Given the description of an element on the screen output the (x, y) to click on. 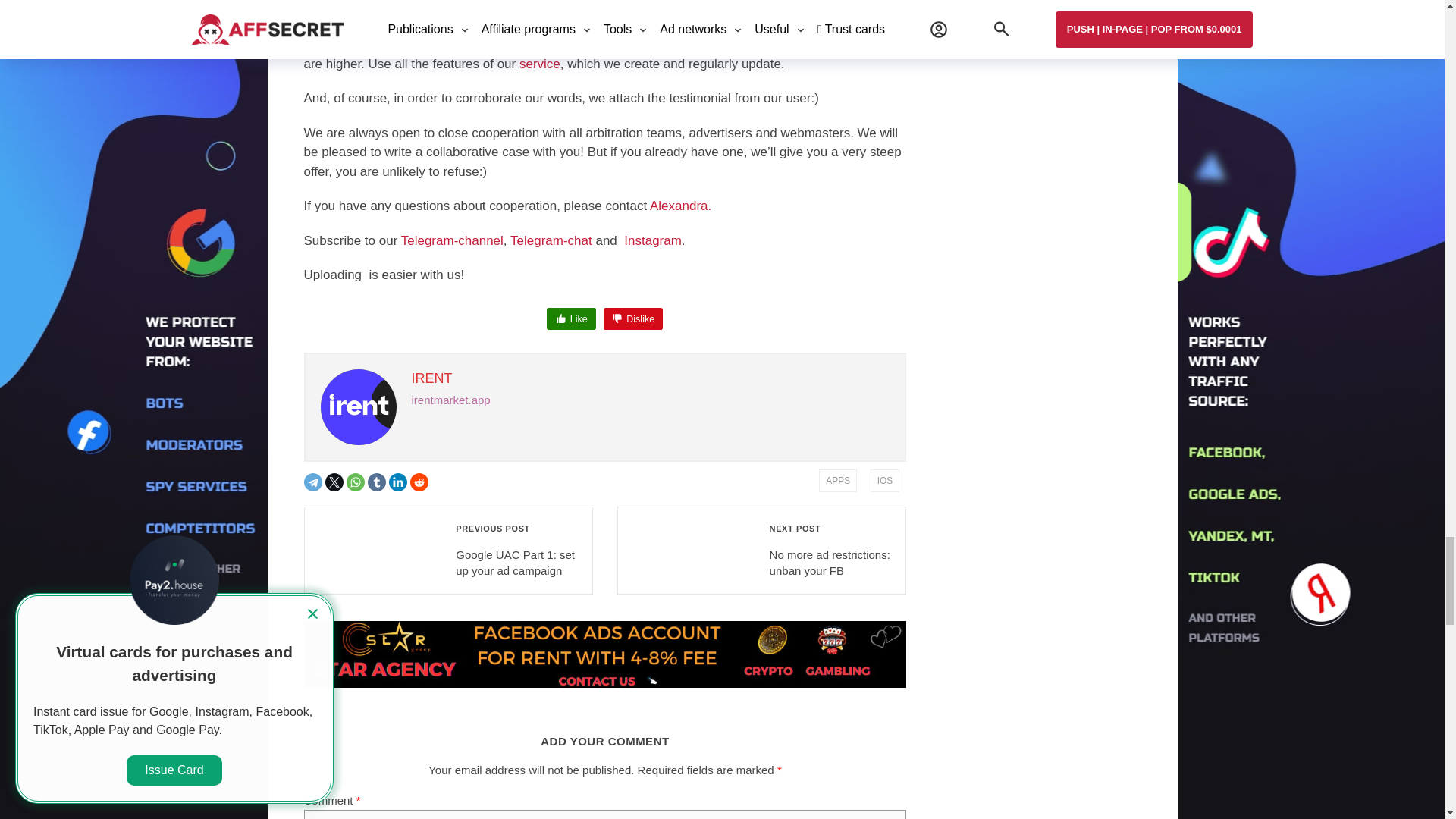
LinkedIn (397, 482)
Twitter (333, 482)
Telegram (311, 482)
WhatsApp (355, 482)
reddit (418, 482)
Tumblr (375, 482)
